Given the description of an element on the screen output the (x, y) to click on. 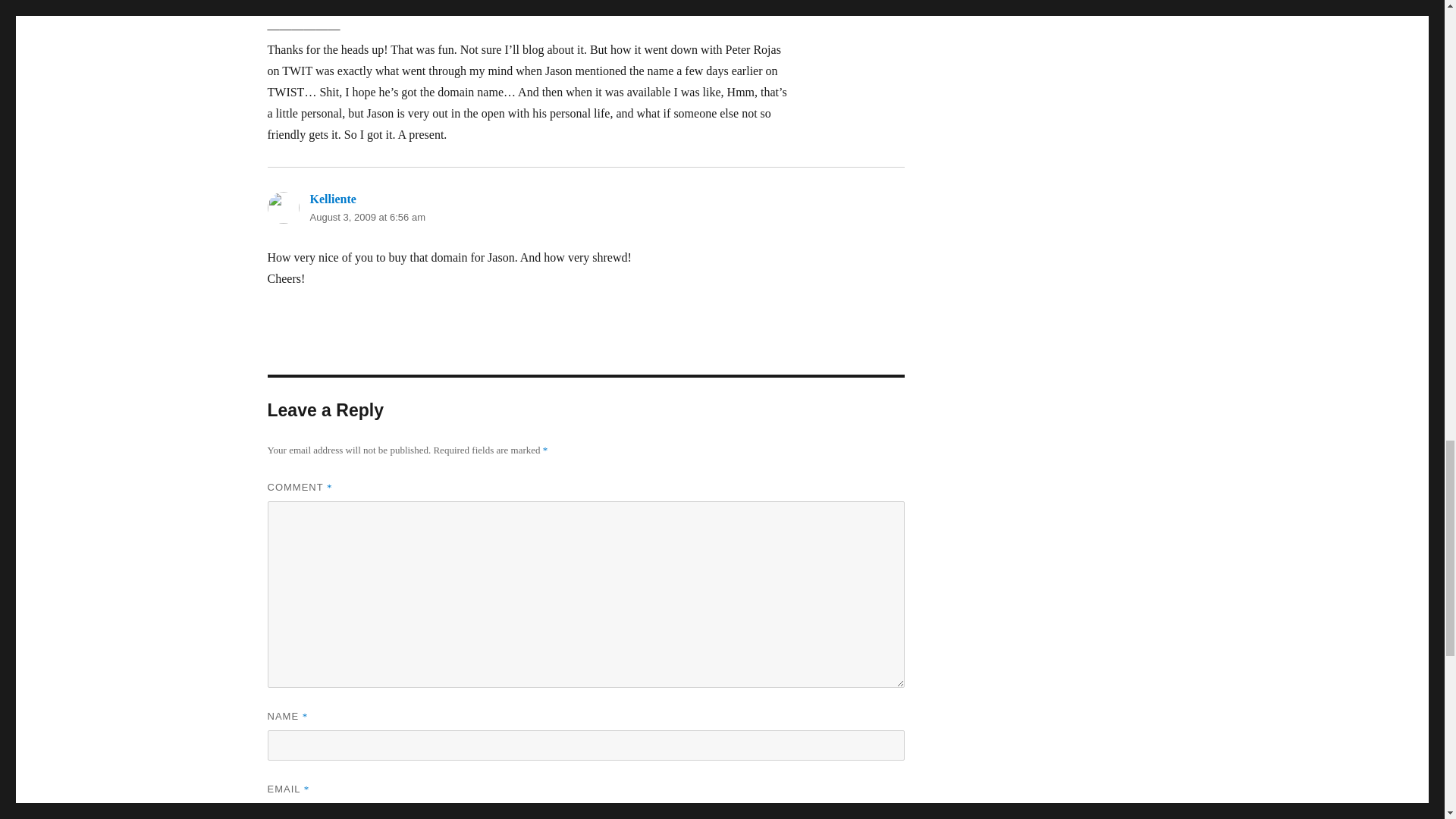
Kelliente (331, 198)
August 3, 2009 at 6:56 am (366, 216)
